Given the description of an element on the screen output the (x, y) to click on. 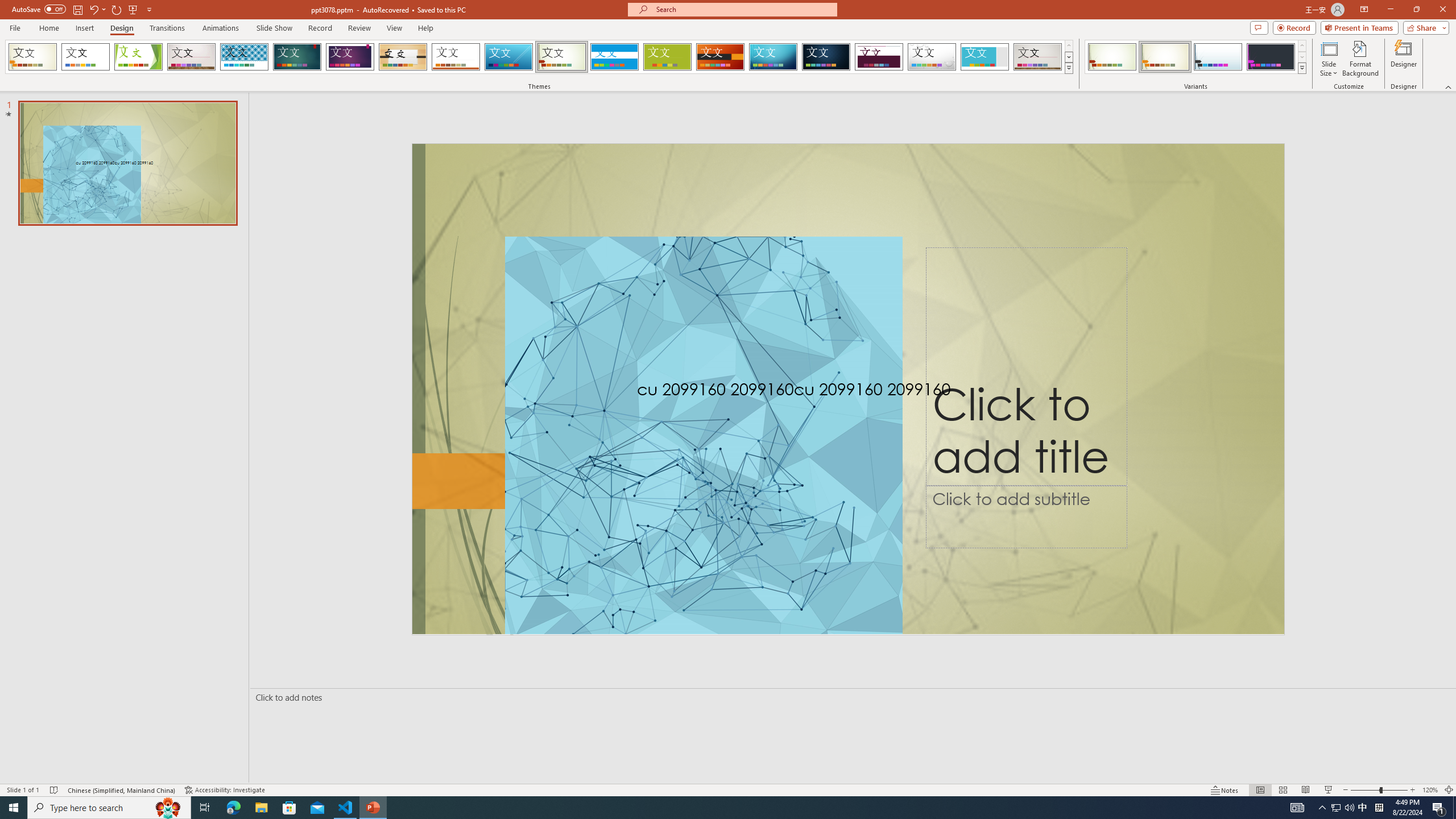
Variants (1301, 67)
